Given the description of an element on the screen output the (x, y) to click on. 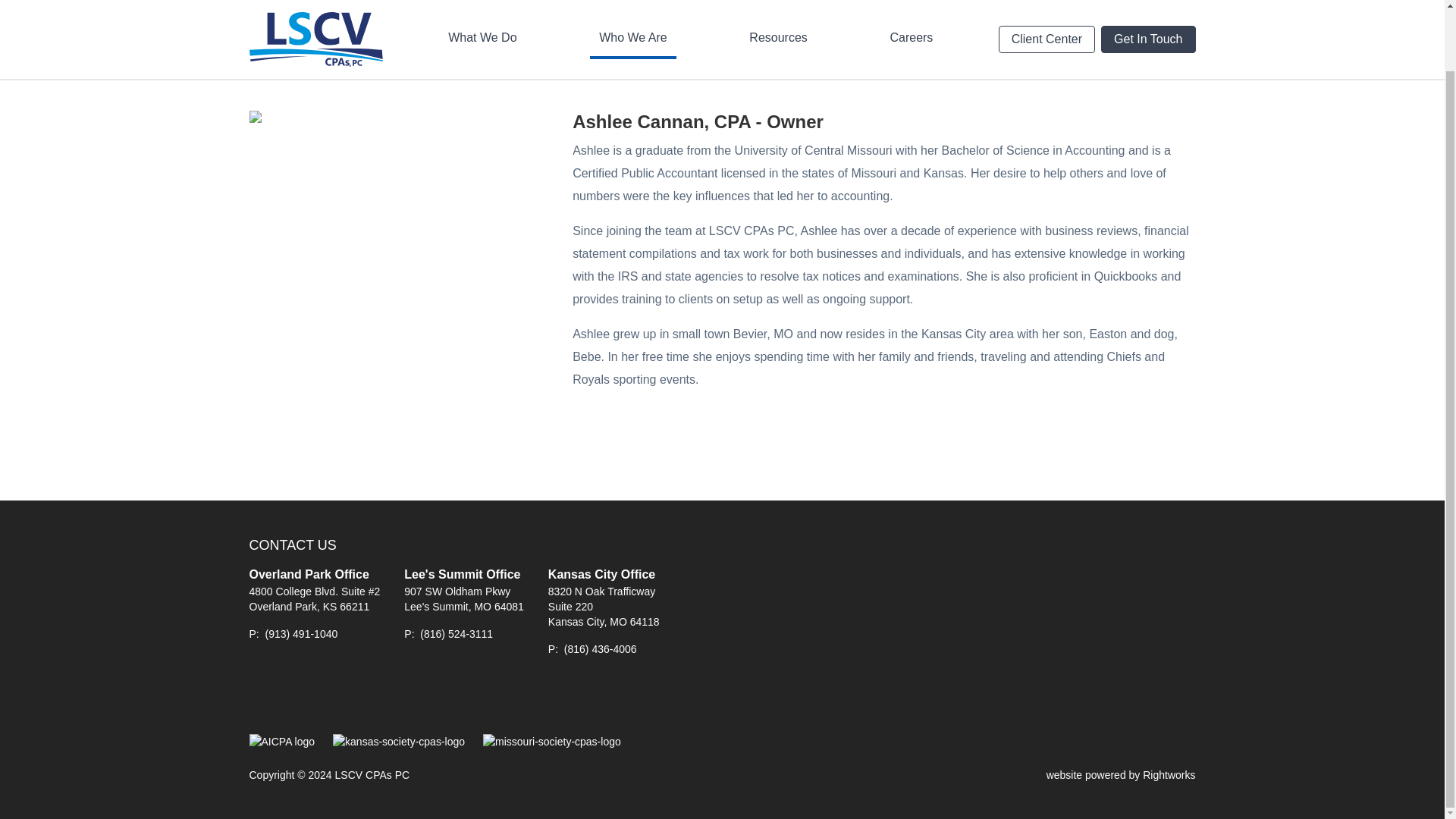
Twitter (298, 695)
LinkedIn (330, 695)
Learn more about Kansas Society of CPAs (398, 741)
Facebook (263, 695)
Learn more about Missouri Society of CPAs (552, 741)
Learn more about American Institute of CPAs (281, 741)
